Given the description of an element on the screen output the (x, y) to click on. 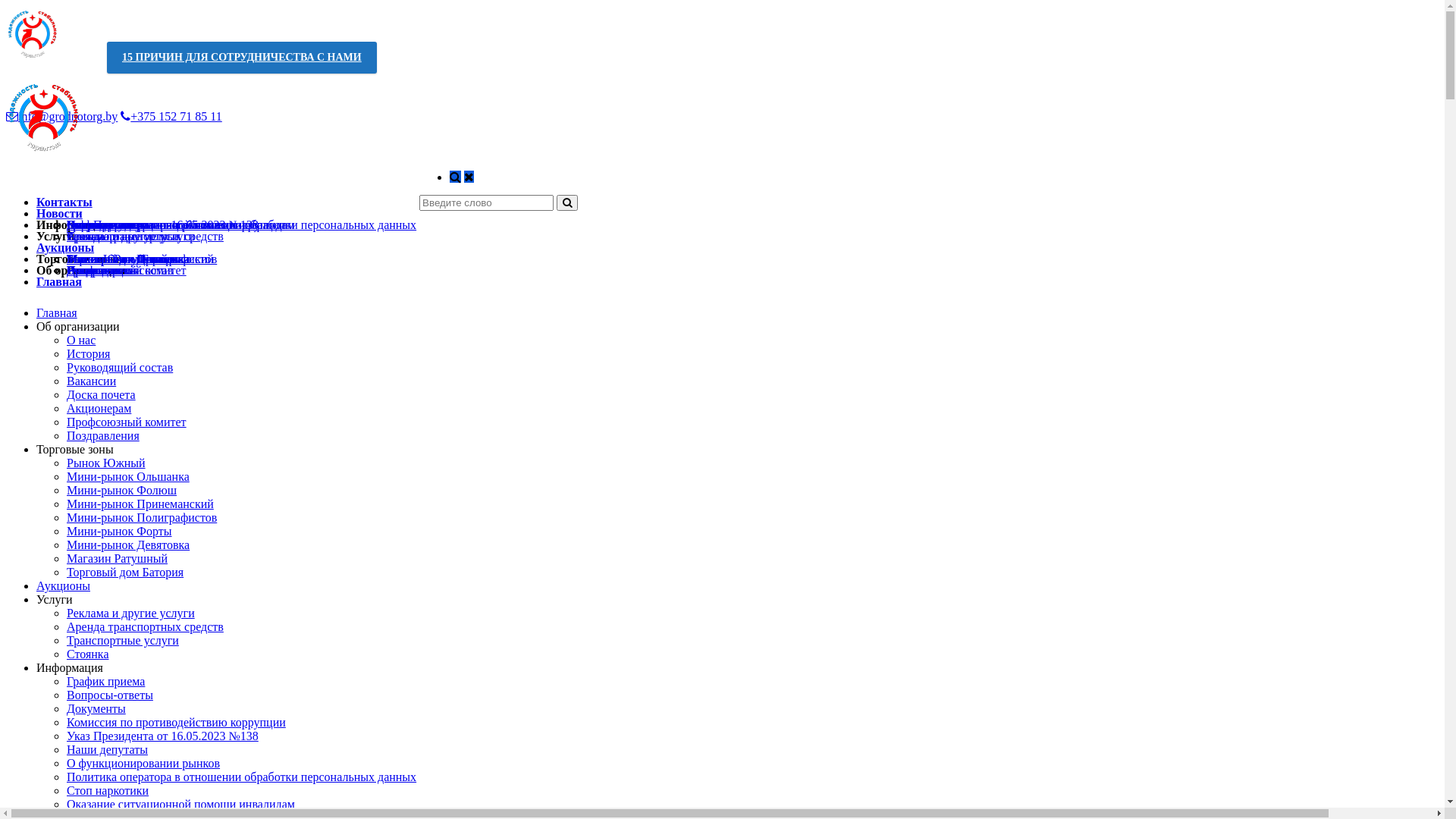
info@grodnotorg.by Element type: text (61, 115)
+375 152 71 85 11 Element type: text (170, 115)
